Given the description of an element on the screen output the (x, y) to click on. 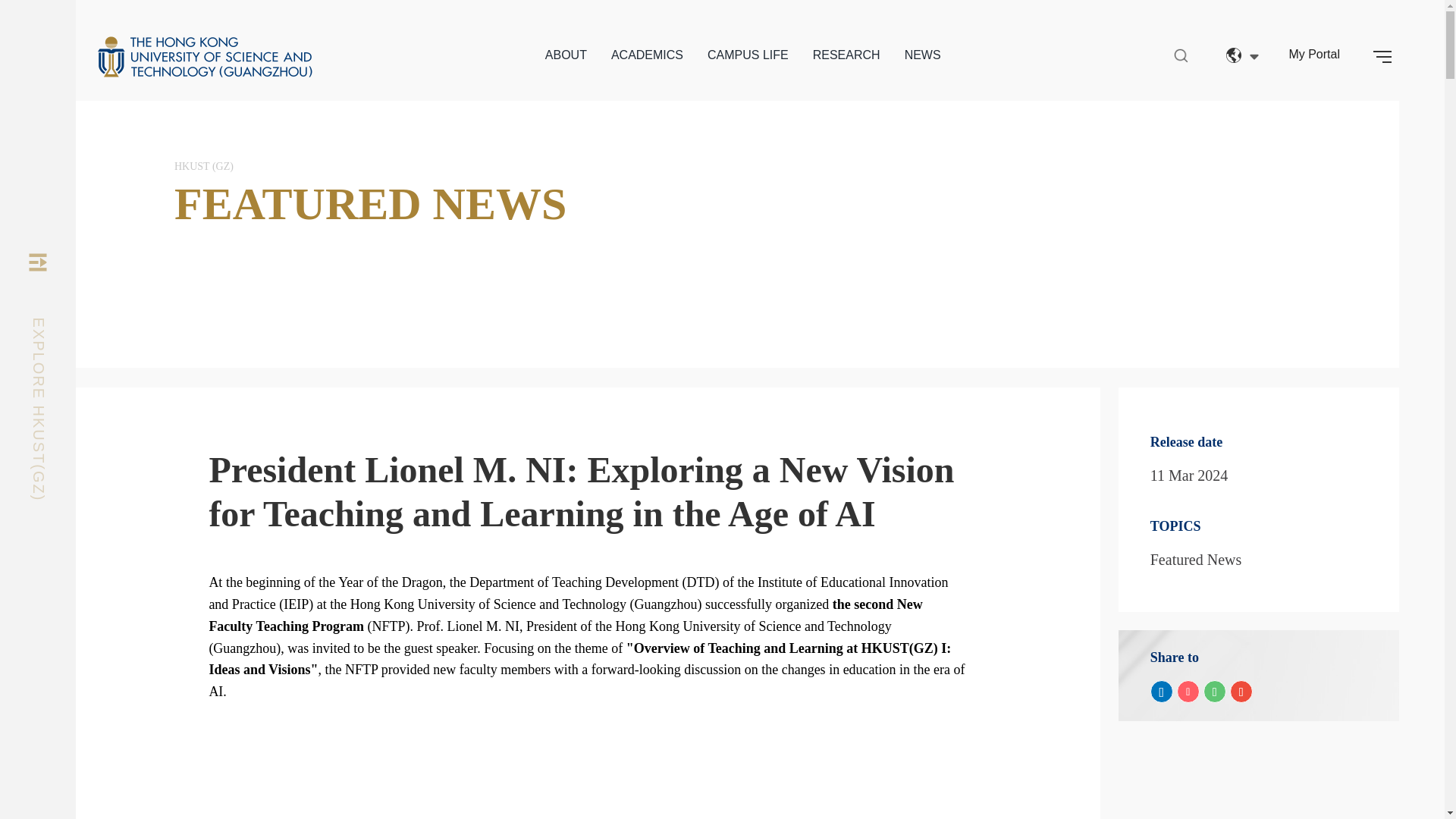
CAMPUS LIFE (747, 54)
ABOUT (565, 54)
ACADEMICS (646, 54)
